Given the description of an element on the screen output the (x, y) to click on. 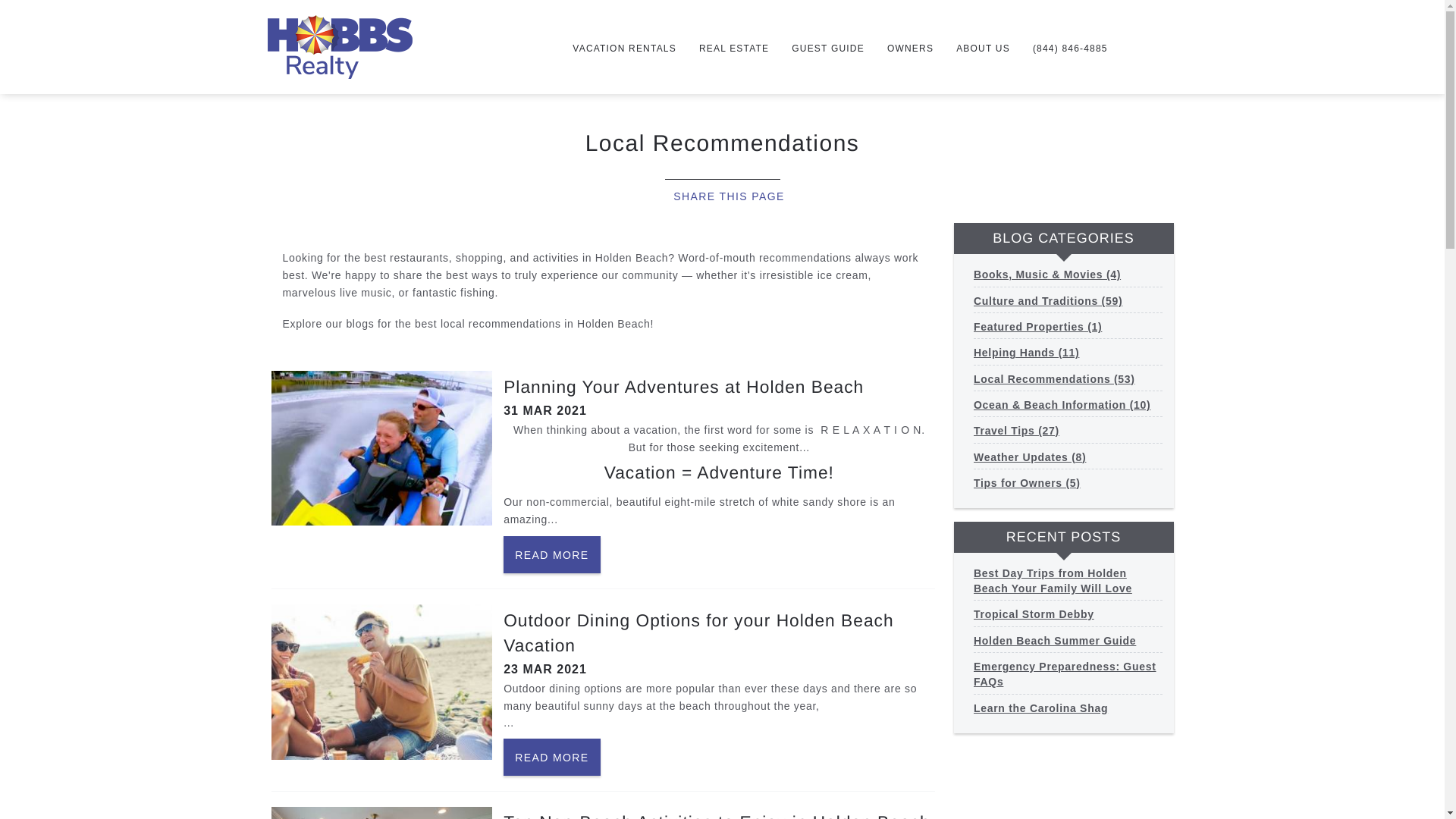
Webcam (1128, 46)
VACATION RENTALS (623, 50)
Home (339, 46)
Webcam (1128, 46)
Recently Viewed (1149, 46)
Recently Viewed (1149, 46)
